Given the description of an element on the screen output the (x, y) to click on. 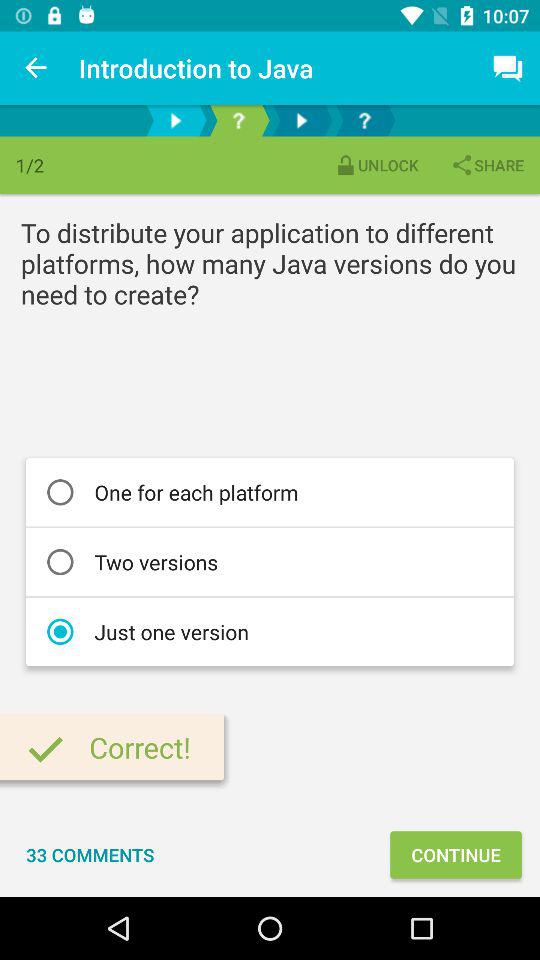
turn on the icon below the just one version icon (455, 854)
